Given the description of an element on the screen output the (x, y) to click on. 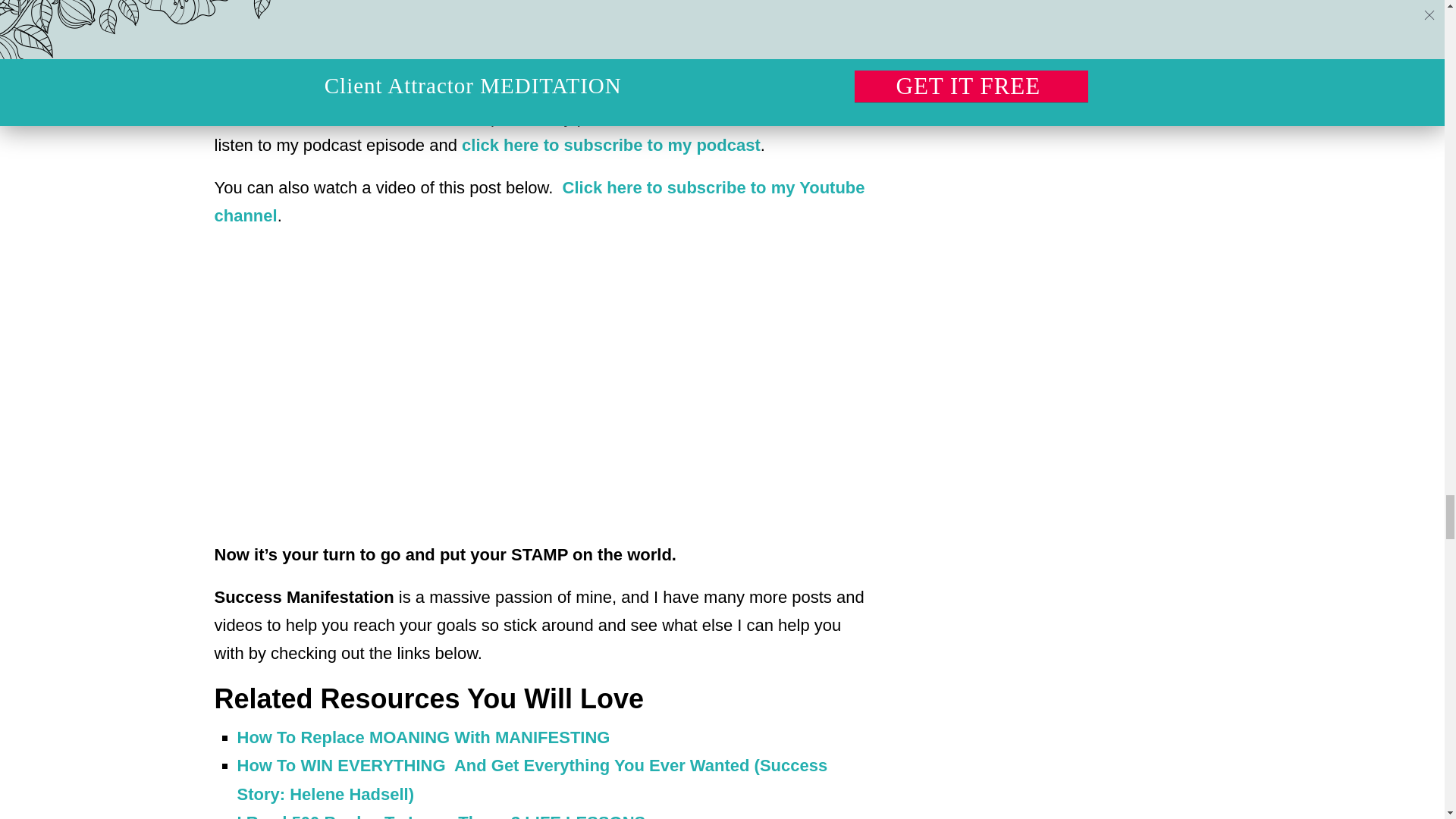
click here to subscribe to my podcast (608, 144)
Courses (524, 74)
 Click here to subscribe to my Youtube channel (539, 201)
Content (450, 74)
How To Replace MOANING With MANIFESTING  (424, 737)
Club (616, 74)
